Given the description of an element on the screen output the (x, y) to click on. 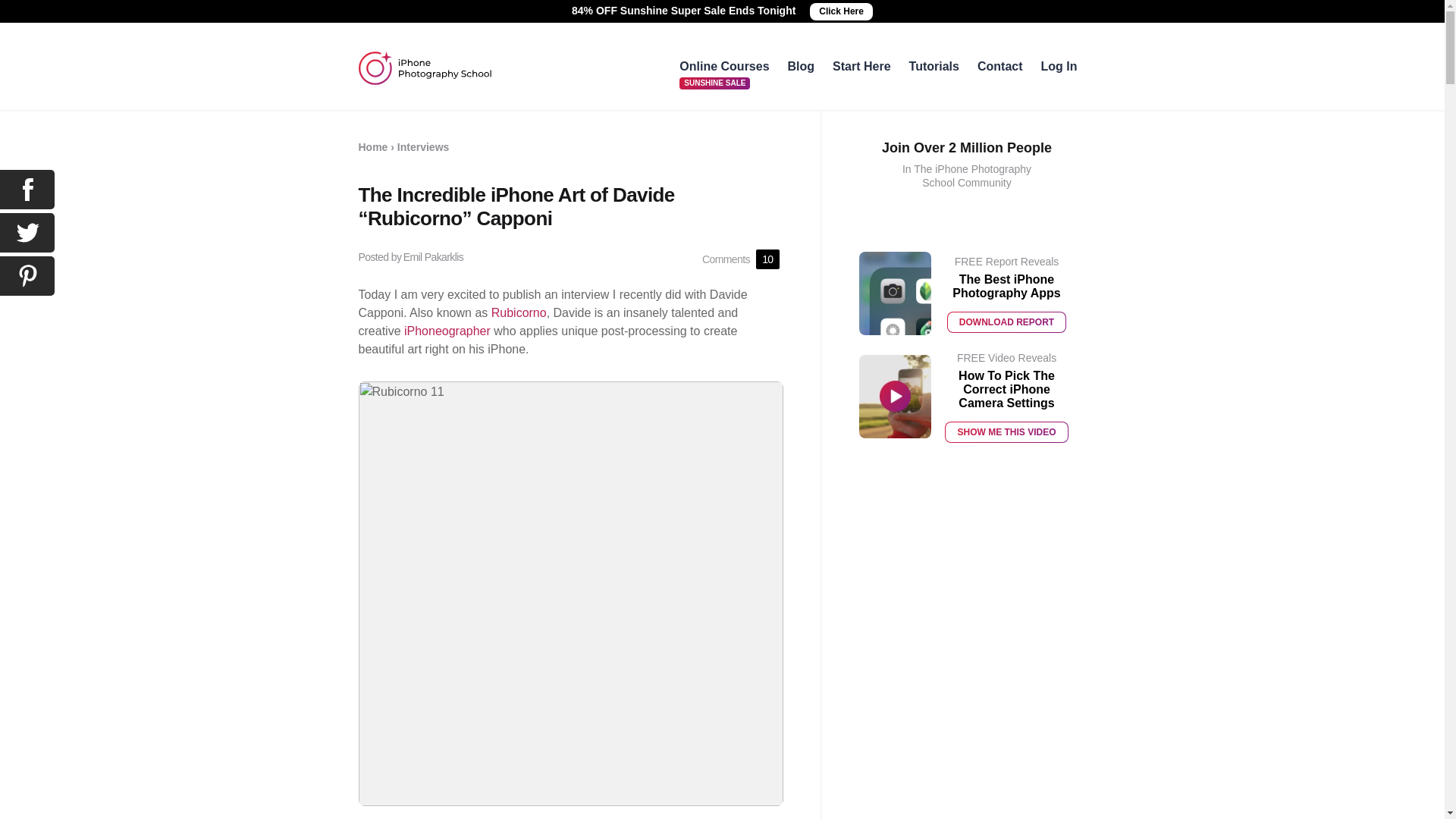
Contact (1000, 65)
iPhoneographer (447, 330)
Tutorials (933, 65)
Online Courses (723, 65)
Blog (801, 65)
Click Here (840, 11)
Emil Pakarklis (433, 256)
Log In (1059, 65)
Start Here (861, 65)
10 (766, 259)
Rubicorno (519, 312)
Home (372, 146)
Interviews (422, 146)
